Given the description of an element on the screen output the (x, y) to click on. 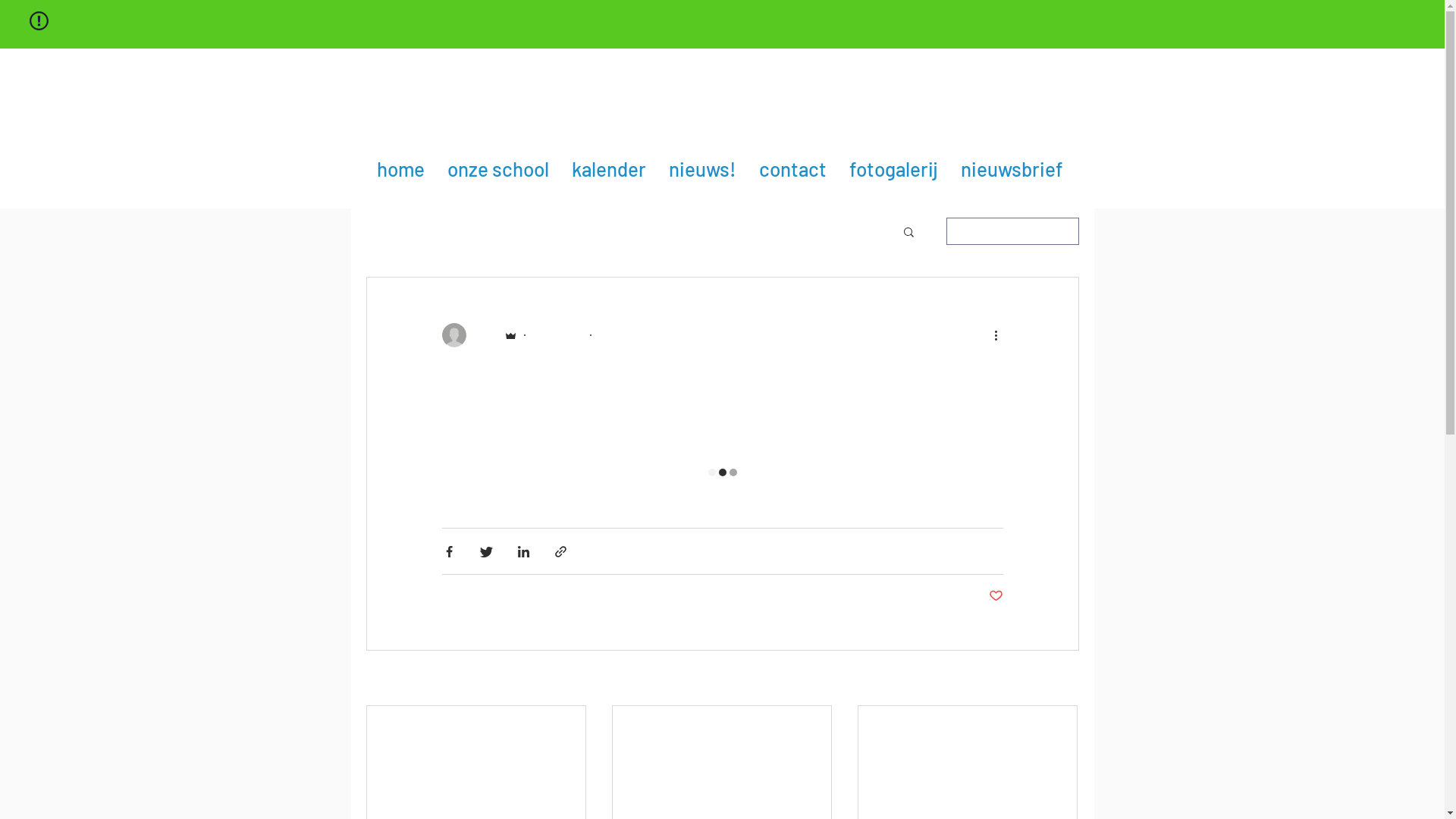
nieuws! Element type: text (710, 168)
All Posts Element type: text (394, 231)
contact Element type: text (798, 168)
Alles weergeven Element type: text (1040, 679)
Inloggen/registreren Element type: text (1012, 230)
nieuwsbrief Element type: text (1011, 168)
kalender Element type: text (616, 168)
fotogalerij Element type: text (895, 168)
Post is niet als leuk gemarkeerd Element type: text (995, 596)
home Element type: text (403, 168)
